Given the description of an element on the screen output the (x, y) to click on. 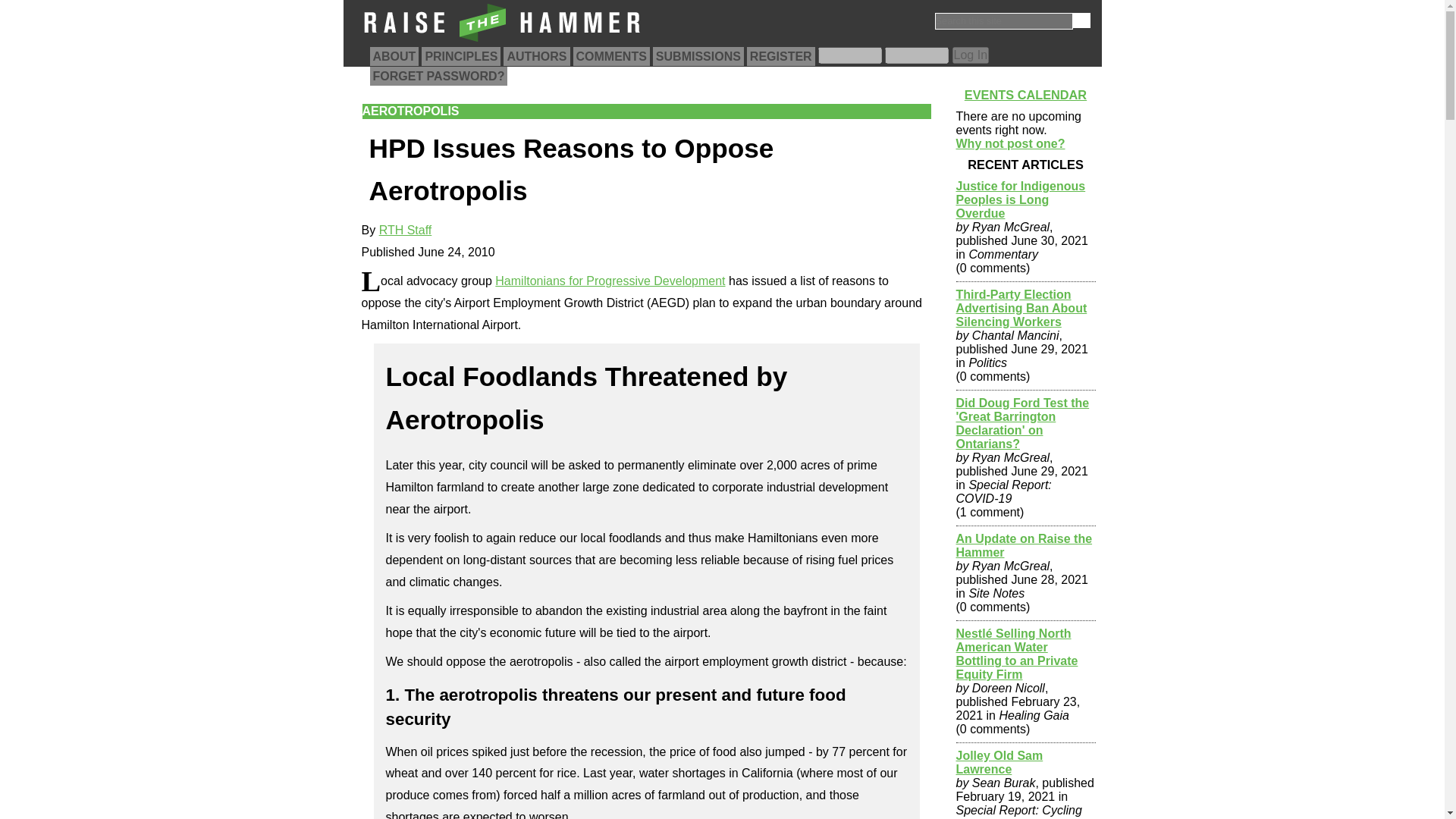
AEROTROPOLIS (411, 110)
Hamiltonians for Progressive Development (610, 280)
See archive for RTH Staff (405, 229)
PRINCIPLES (461, 56)
Contributors to the site (536, 56)
COMMENTS (611, 56)
Submit an article for publication (698, 56)
AUTHORS (536, 56)
ABOUT (394, 56)
About Raise the Hammer (394, 56)
